Given the description of an element on the screen output the (x, y) to click on. 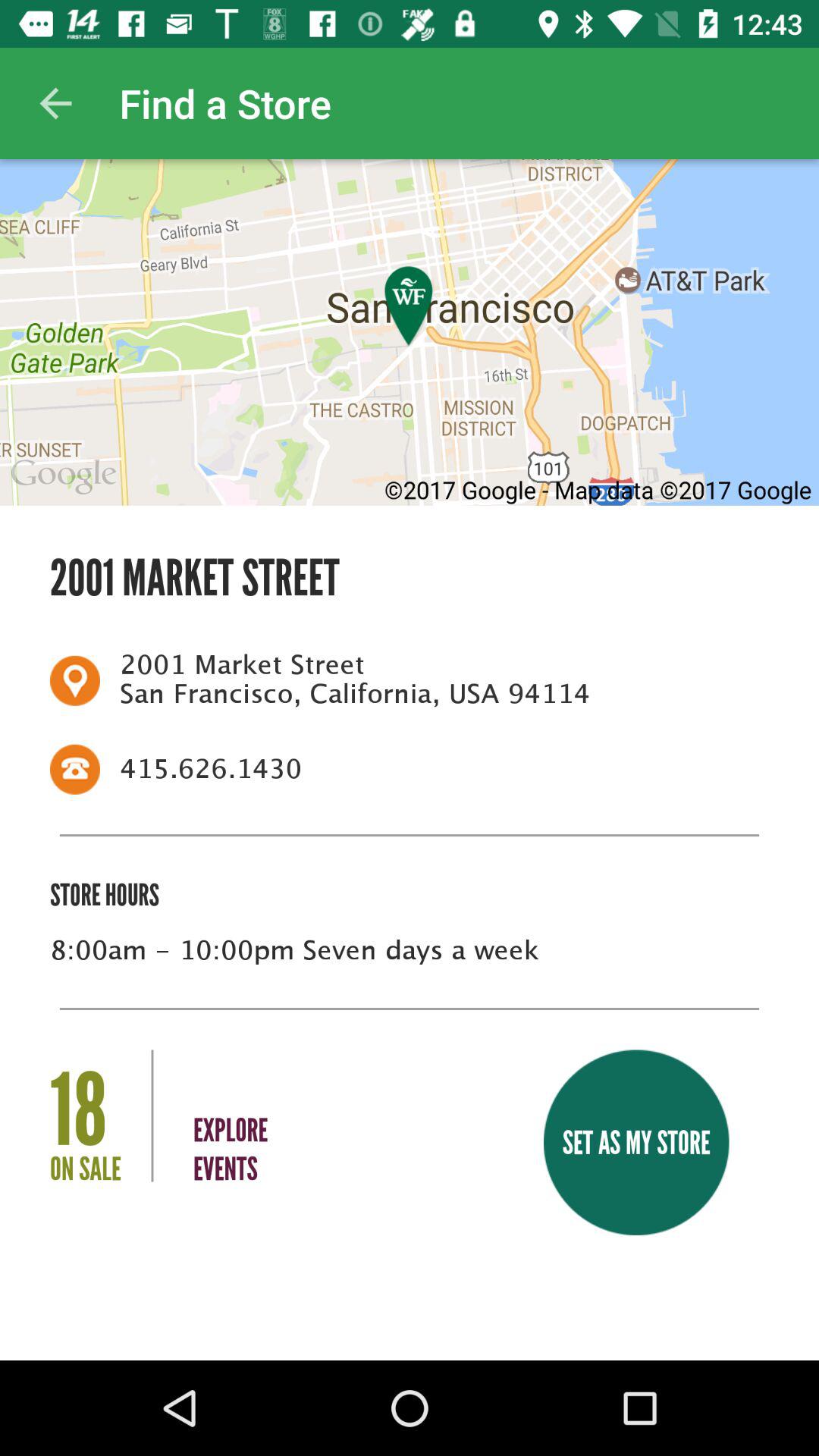
turn on icon next to set as my (230, 1118)
